Given the description of an element on the screen output the (x, y) to click on. 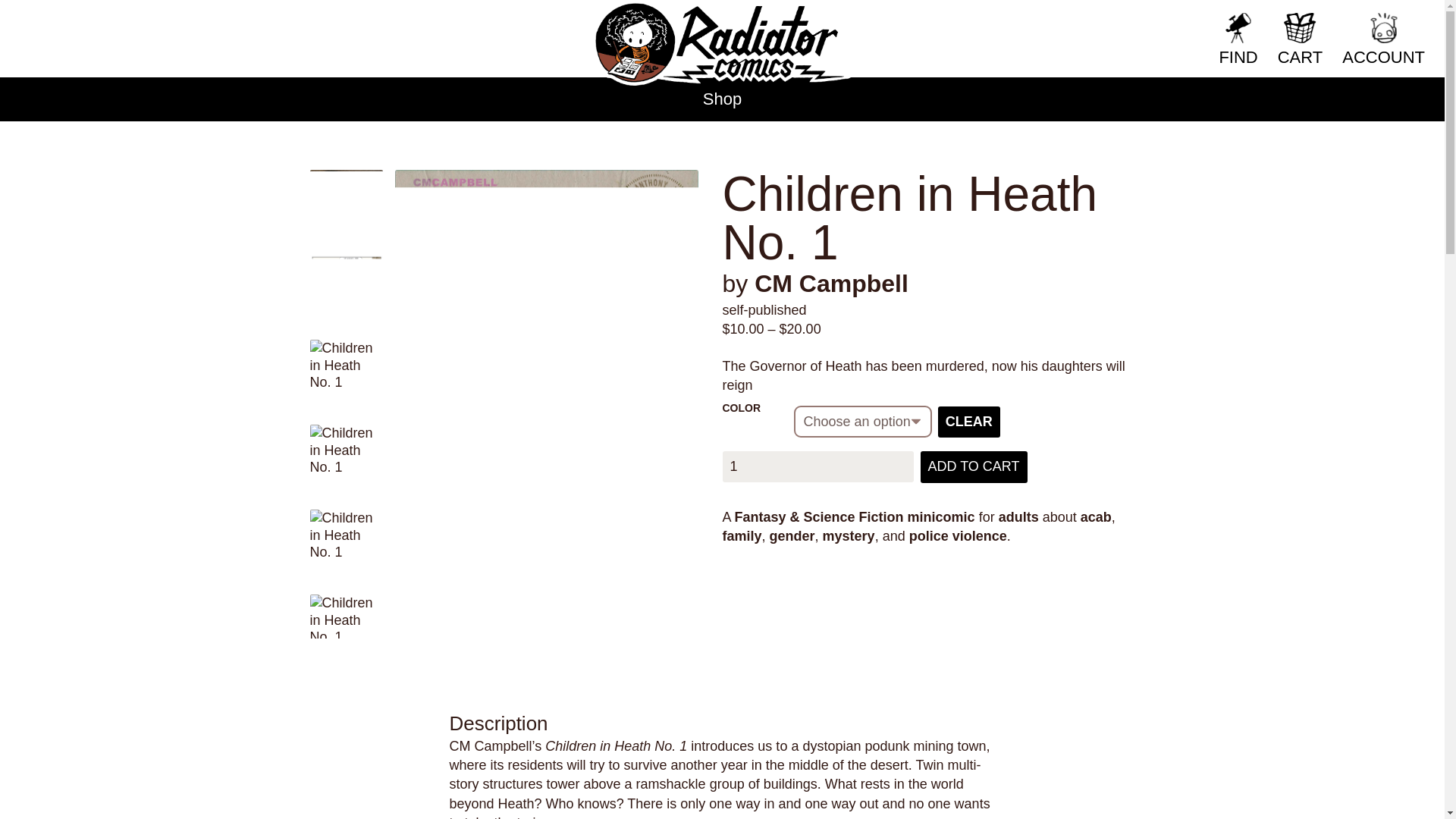
Find Comics (1289, 21)
CART (1300, 39)
FIND (1237, 39)
Children in Heath No. 1 (344, 450)
Children in Heath No. 1 (344, 365)
Children in Heath No. 1 (344, 545)
Children in Heath No. 1 (344, 290)
Find Comics (1289, 21)
1 (817, 466)
RESET FORM (1137, 21)
